Given the description of an element on the screen output the (x, y) to click on. 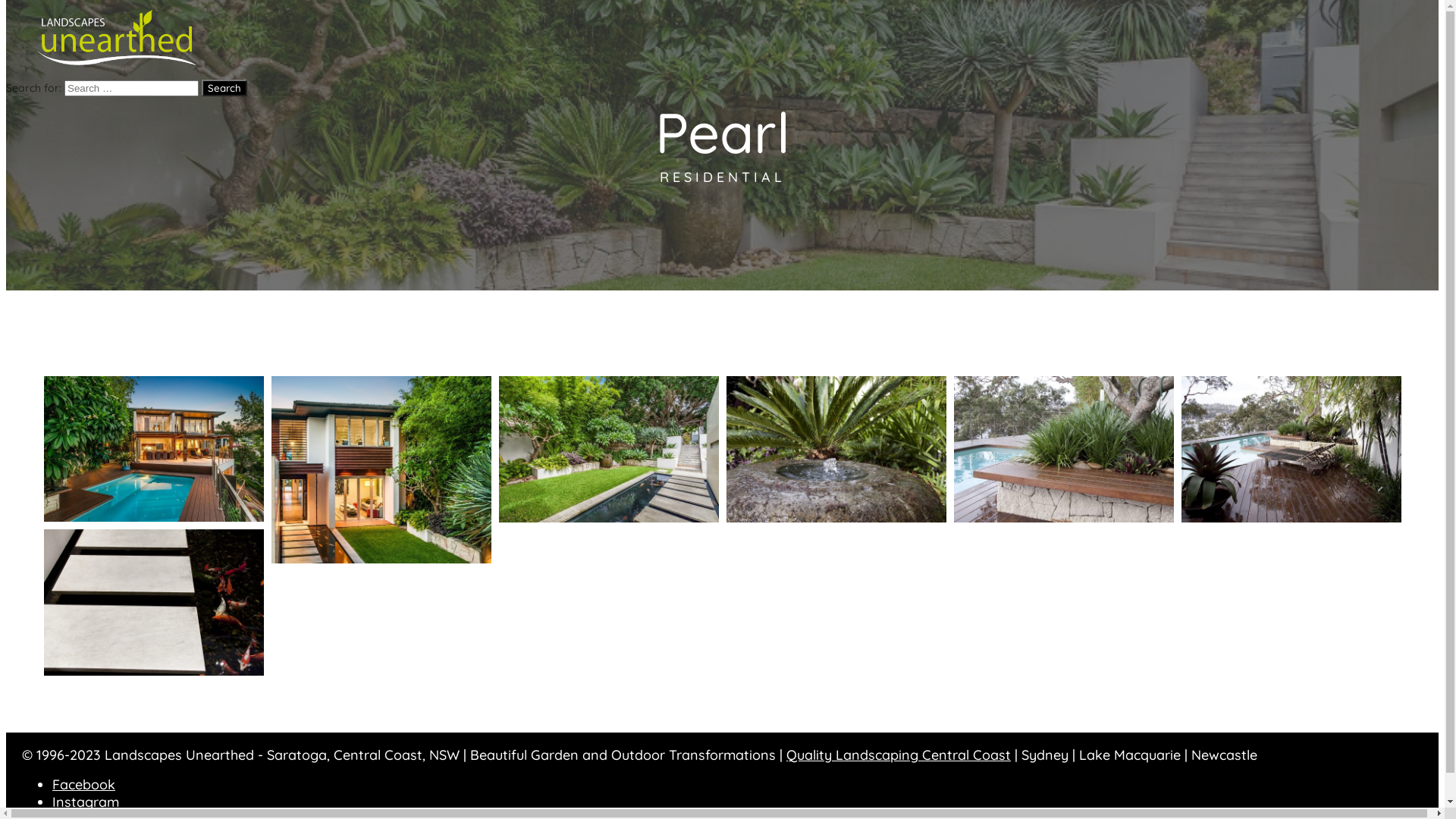
Instagram Element type: text (85, 801)
Facebook Element type: text (83, 784)
Search Element type: text (224, 87)
Quality Landscaping Central Coast Element type: text (898, 755)
